Given the description of an element on the screen output the (x, y) to click on. 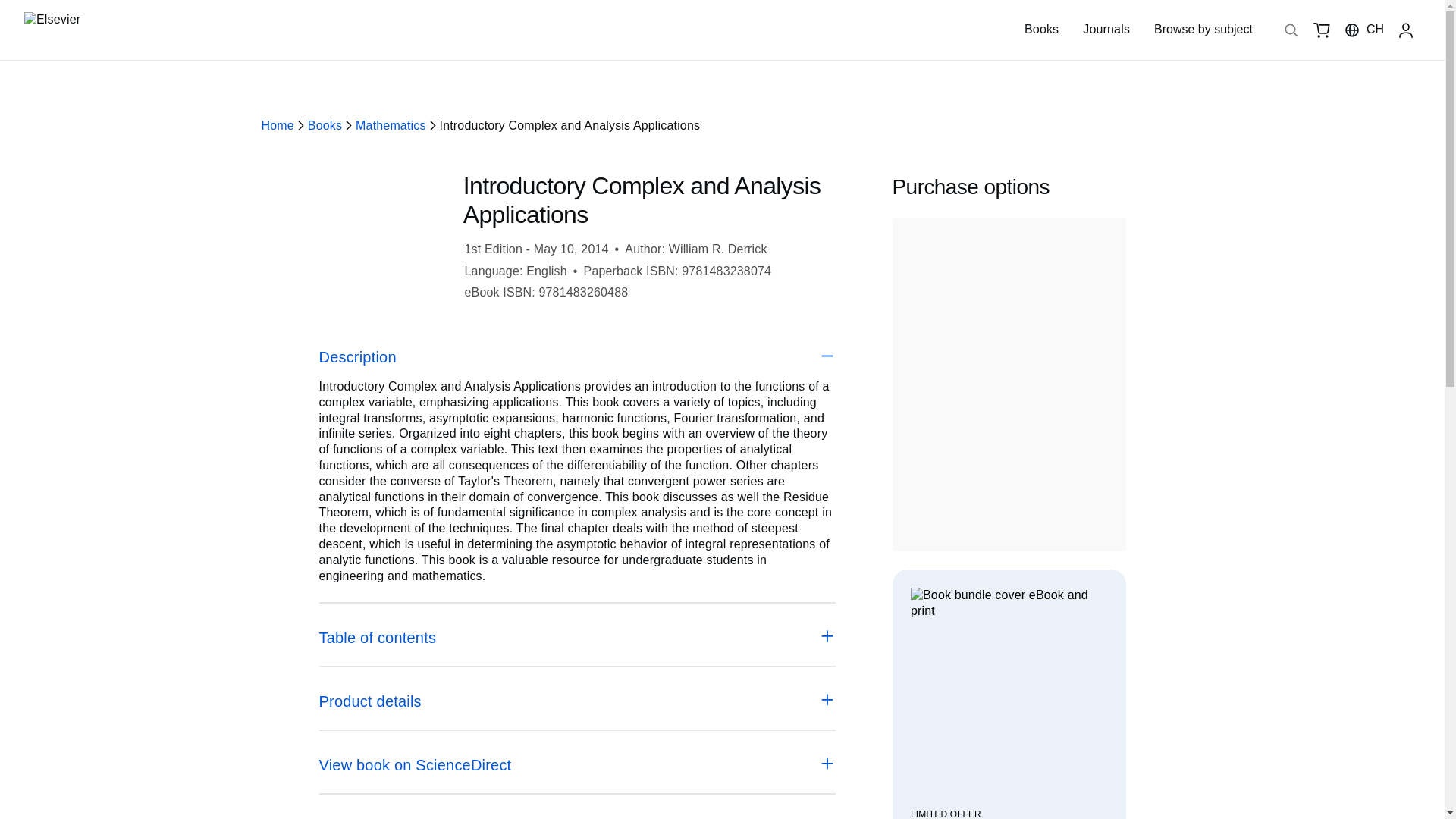
Journals (1106, 29)
Browse by subject (1203, 29)
Books (1041, 29)
